Given the description of an element on the screen output the (x, y) to click on. 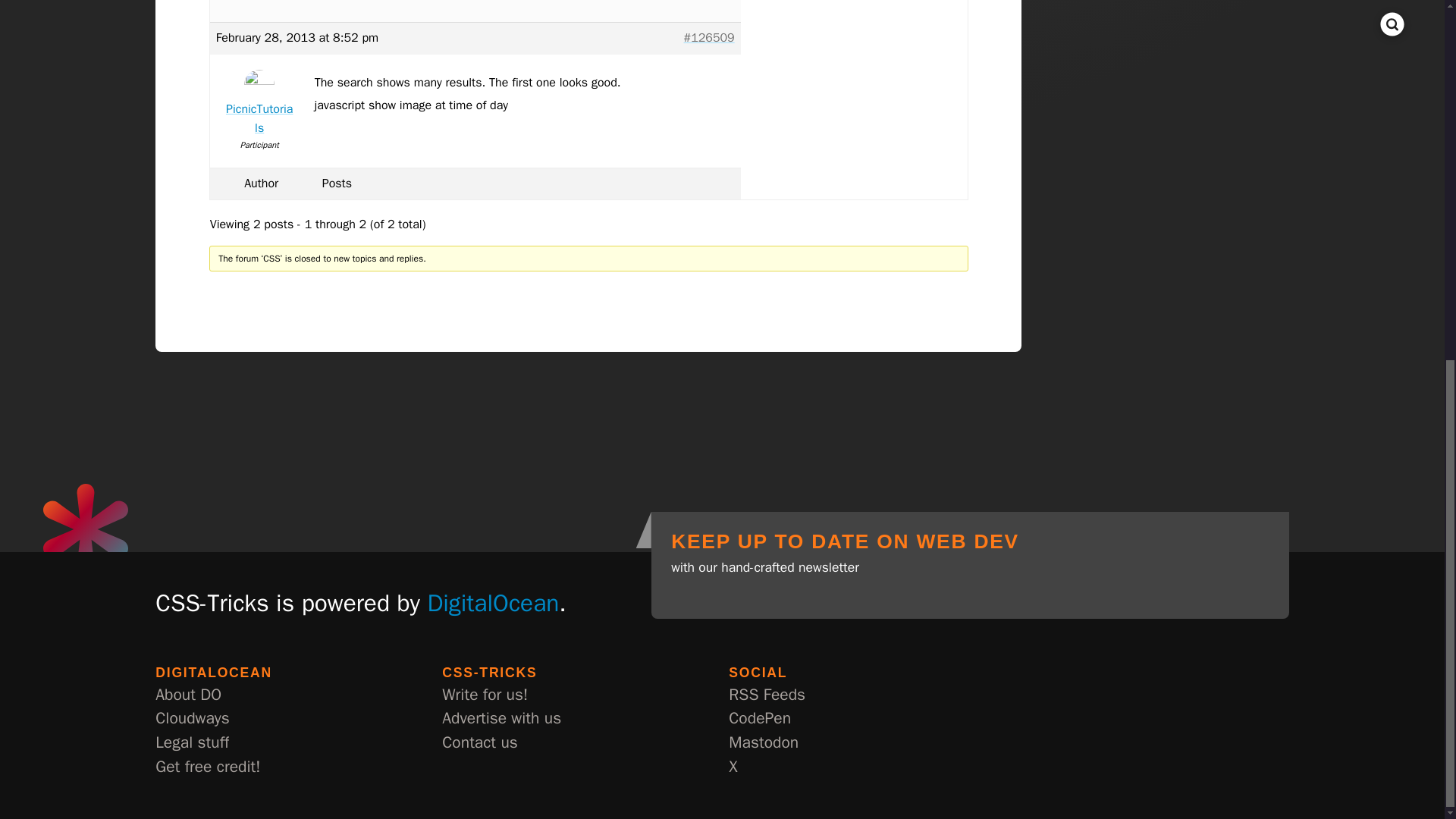
Advertise with us (501, 718)
RSS Feeds (767, 695)
Legal stuff (191, 743)
Mastodon (763, 743)
PicnicTutorials (258, 105)
Get free credit! (207, 767)
CodePen (759, 718)
Contact us (480, 743)
Cloudways (191, 718)
Write for us! (484, 695)
DigitalOcean (492, 603)
About DO (188, 695)
View PicnicTutorials's profile (258, 105)
